Given the description of an element on the screen output the (x, y) to click on. 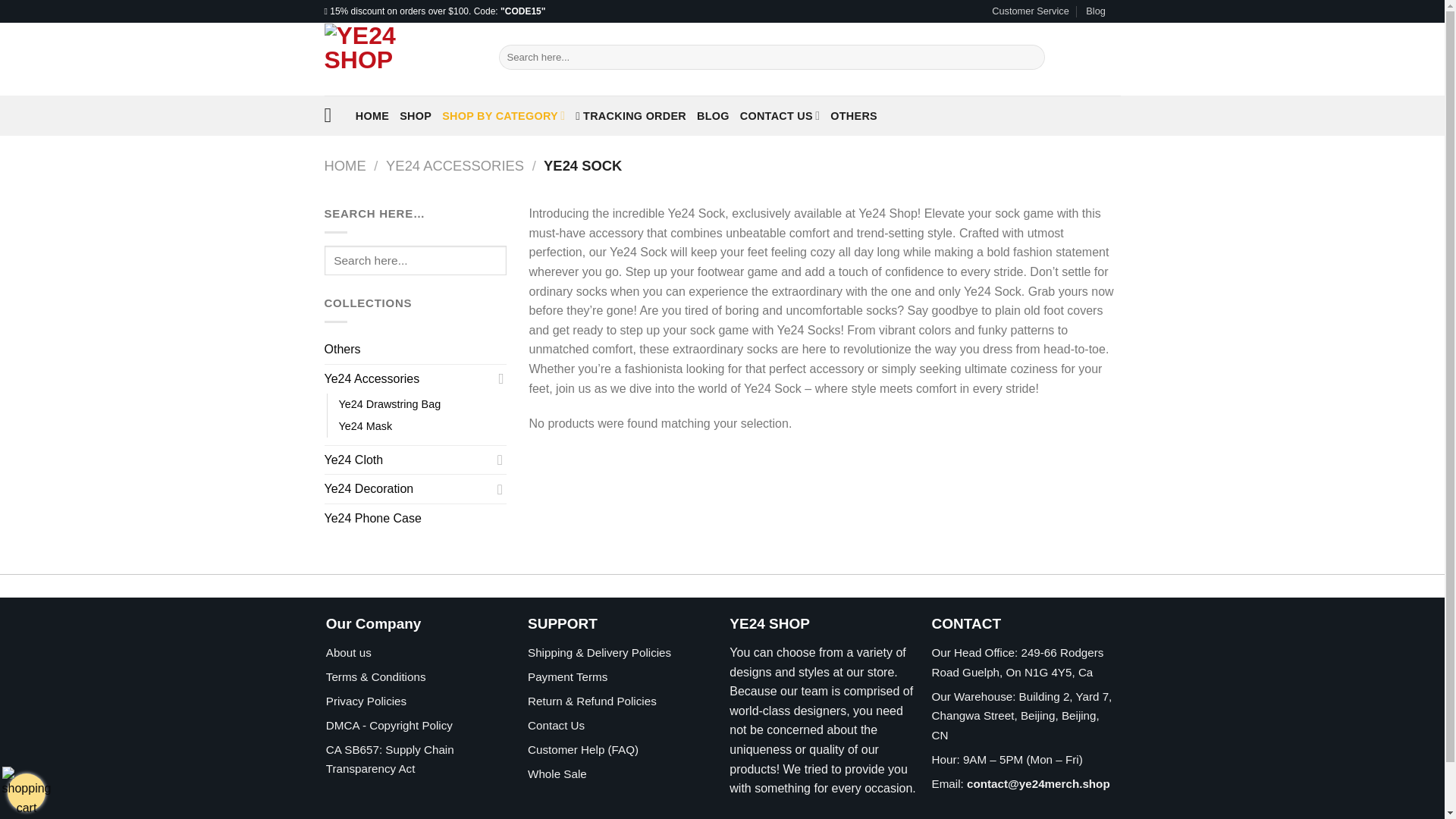
HOME (371, 115)
Customer Service (1029, 11)
View your shopping cart (26, 791)
Ye24 Shop - Official Ye24 Merchandise Store (400, 58)
SHOP (414, 115)
SHOP BY CATEGORY (503, 115)
